Given the description of an element on the screen output the (x, y) to click on. 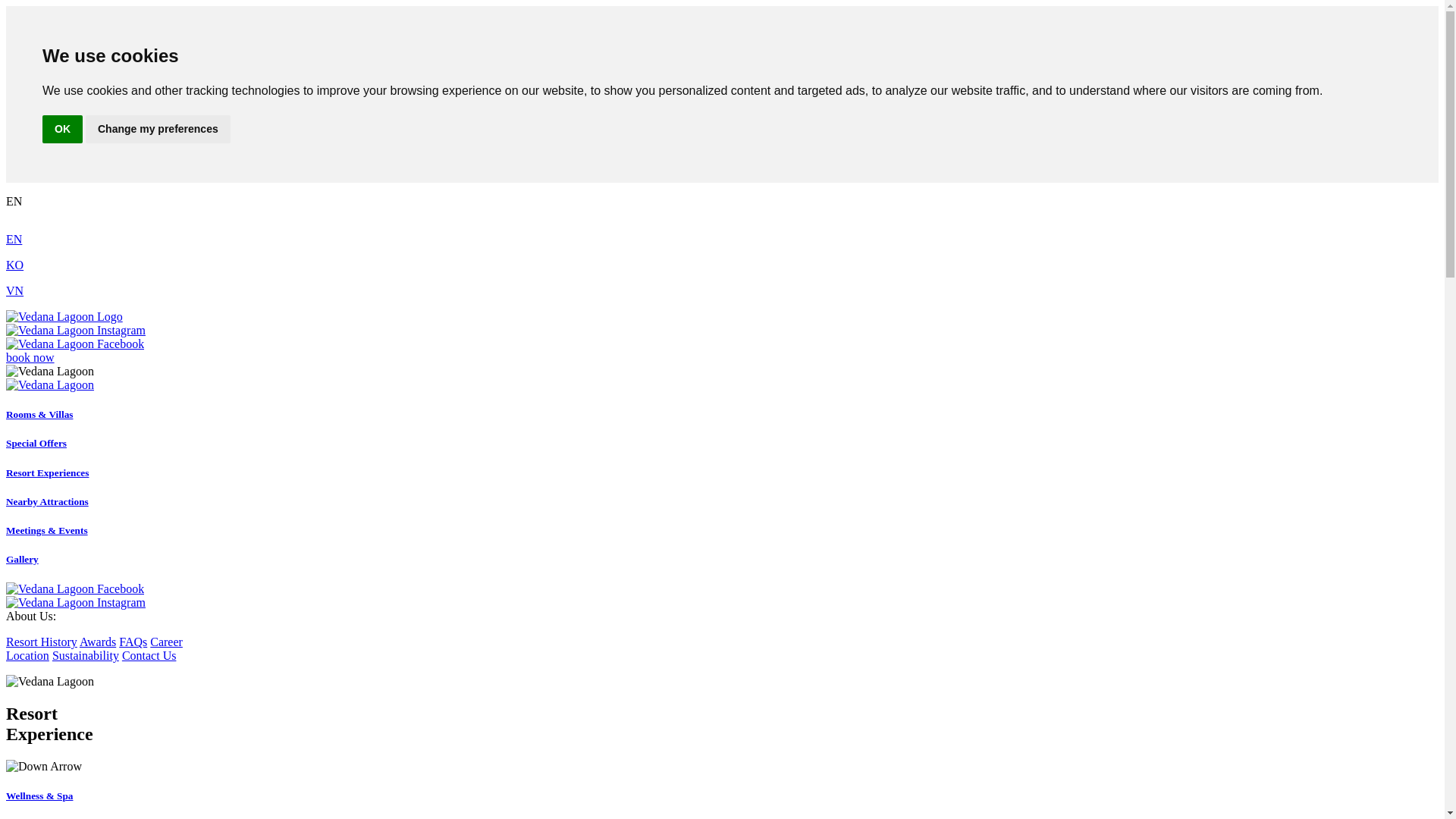
Awards (98, 641)
book now (30, 357)
VN (14, 290)
KO (14, 264)
FAQs (133, 641)
Special Offers (35, 442)
Gallery (22, 559)
Resort History (41, 641)
Nearby Attractions (46, 501)
Sustainability (85, 655)
Career (166, 641)
Contact Us (149, 655)
Resort Experiences (46, 472)
OK (62, 129)
Change my preferences (157, 129)
